Given the description of an element on the screen output the (x, y) to click on. 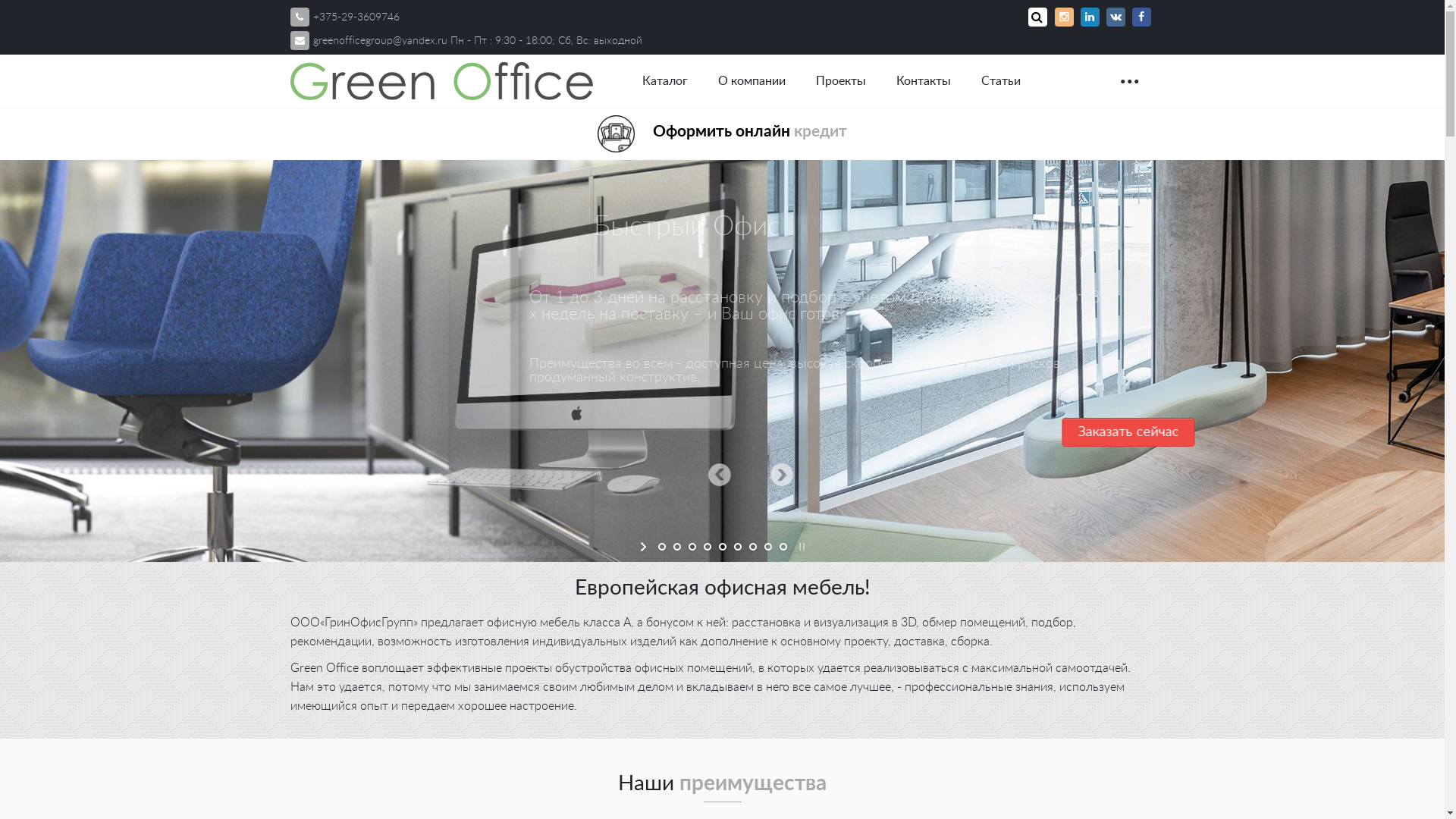
... Element type: text (1129, 74)
Green Office Element type: hover (440, 81)
